Given the description of an element on the screen output the (x, y) to click on. 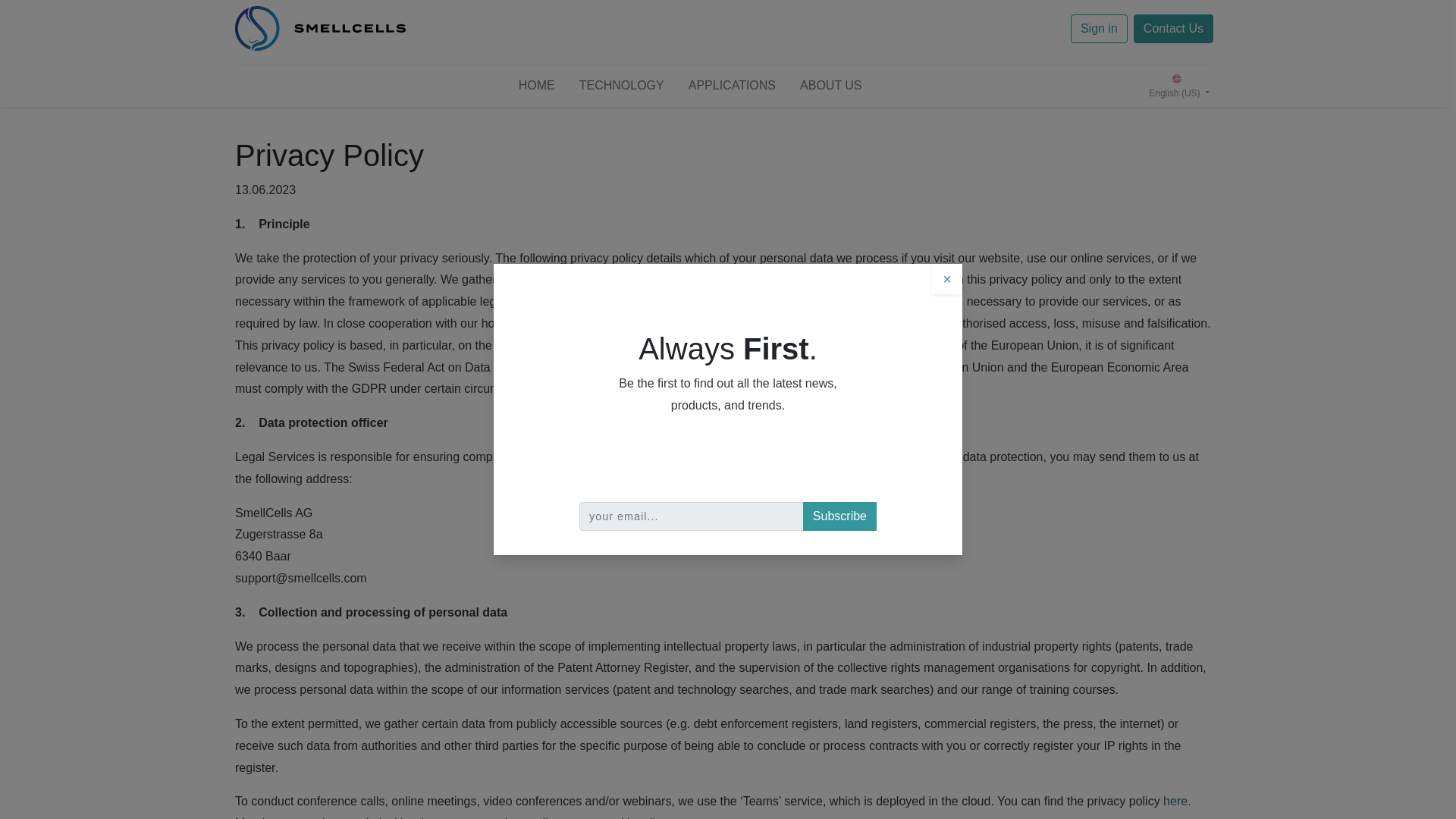
Contact Us (1173, 28)
here (1175, 800)
Sign in (1098, 28)
APPLICATIONS (732, 85)
SmellCells (320, 28)
TECHNOLOGY (622, 85)
HOME (536, 85)
Subscribe (839, 516)
ABOUT US (831, 85)
